Given the description of an element on the screen output the (x, y) to click on. 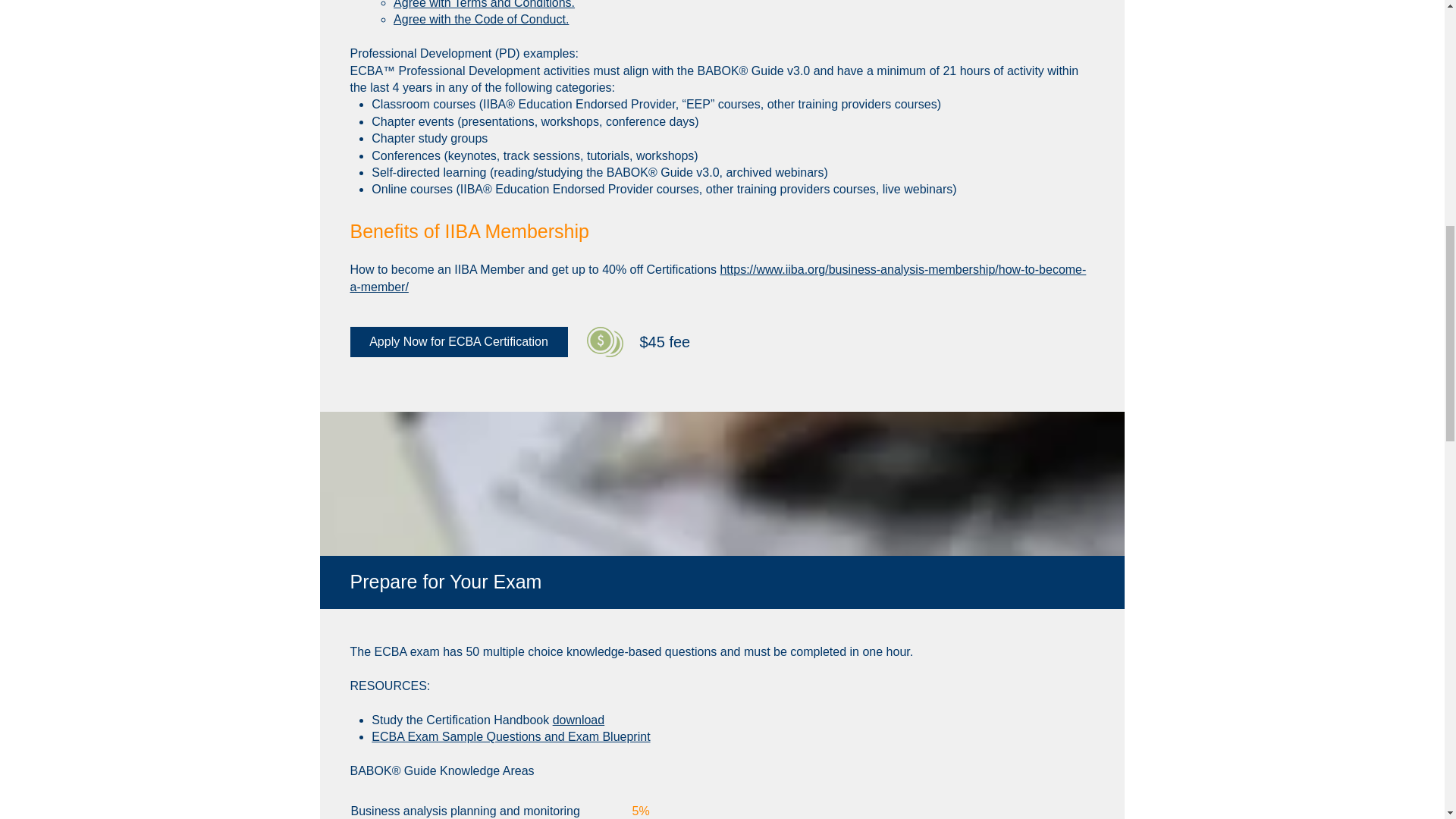
Apply Now for ECBA Certification (458, 341)
download (579, 719)
Agree with the Code of Conduct. (481, 19)
Agree with Terms and Conditions. (484, 4)
ECBA Exam Sample Questions and Exam Blueprint (510, 736)
